Given the description of an element on the screen output the (x, y) to click on. 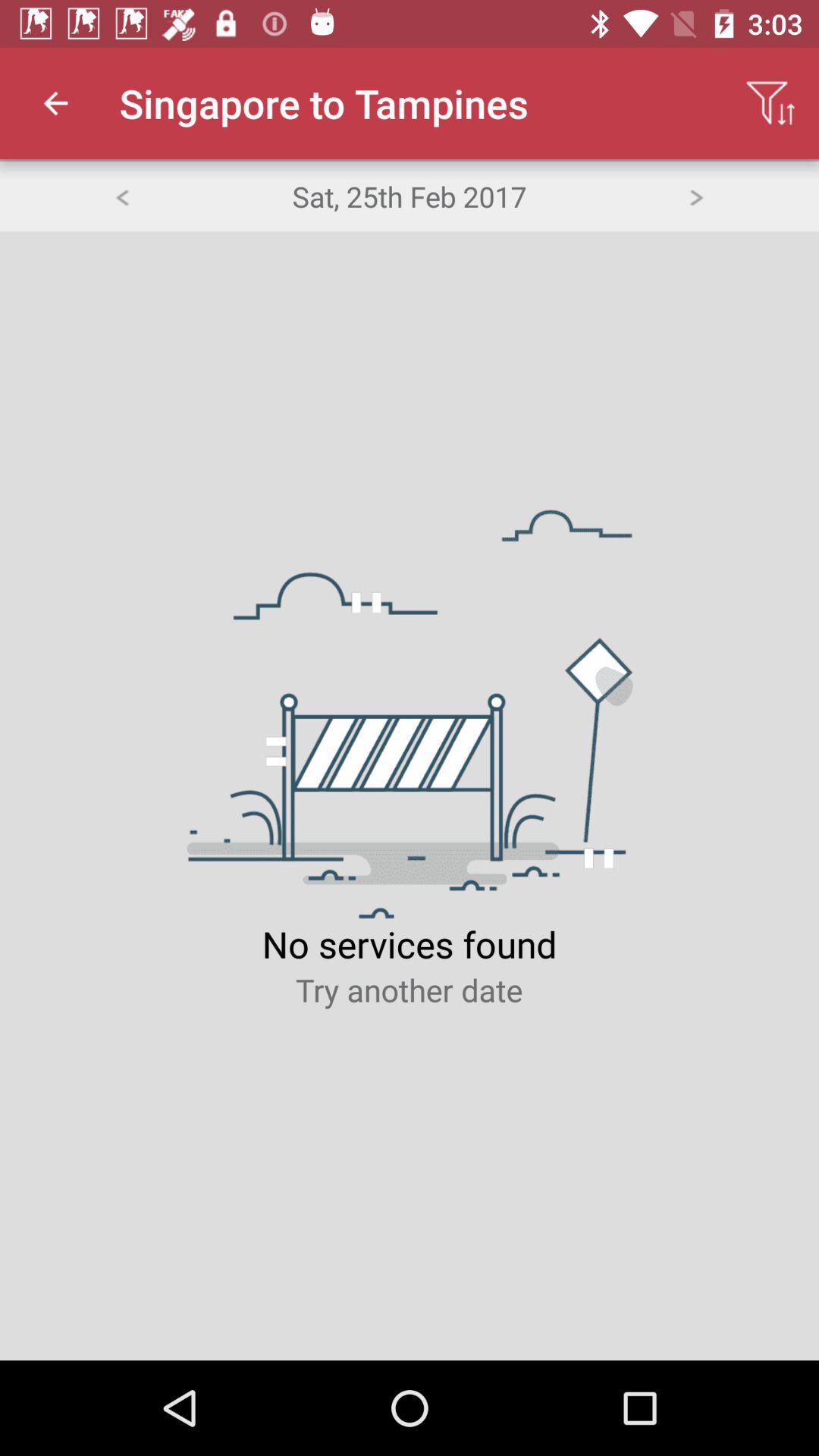
previous day (121, 196)
